Given the description of an element on the screen output the (x, y) to click on. 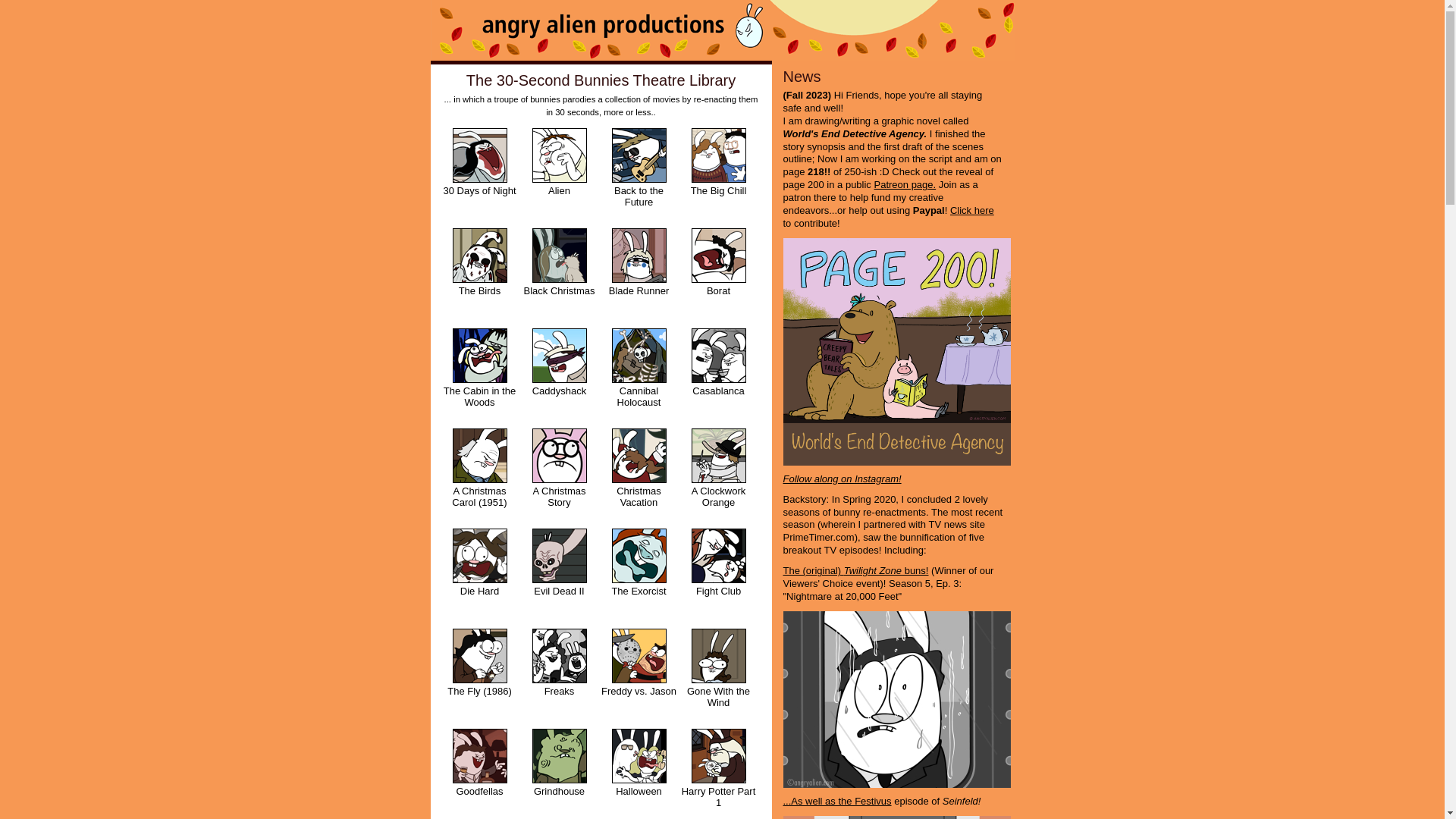
The Birds Element type: text (479, 274)
Back to the Future Element type: text (638, 174)
Evil Dead II Element type: text (559, 575)
A Christmas Story Element type: text (559, 474)
Blade Runner Element type: text (638, 274)
Casablanca Element type: text (718, 374)
Black Christmas Element type: text (559, 274)
Gone With the Wind Element type: text (718, 675)
A Clockwork Orange Element type: text (718, 474)
Follow along on Instagram! Element type: text (841, 478)
The Fly (1986) Element type: text (479, 675)
The (original) Twilight Zone buns! Element type: text (855, 570)
Fight Club Element type: text (718, 575)
...As well as the Festivus Element type: text (836, 800)
The Exorcist Element type: text (638, 575)
Click here Element type: text (972, 210)
The Big Chill Element type: text (718, 174)
Patreon page. Element type: text (904, 184)
The Cabin in the Woods Element type: text (479, 374)
Freddy vs. Jason Element type: text (638, 675)
A Christmas Carol (1951) Element type: text (479, 474)
Freaks Element type: text (559, 675)
30 Days of Night Element type: text (479, 174)
Borat Element type: text (718, 274)
Die Hard Element type: text (479, 575)
Caddyshack Element type: text (559, 374)
Cannibal Holocaust Element type: text (638, 374)
Alien Element type: text (559, 174)
Christmas Vacation Element type: text (638, 474)
